Given the description of an element on the screen output the (x, y) to click on. 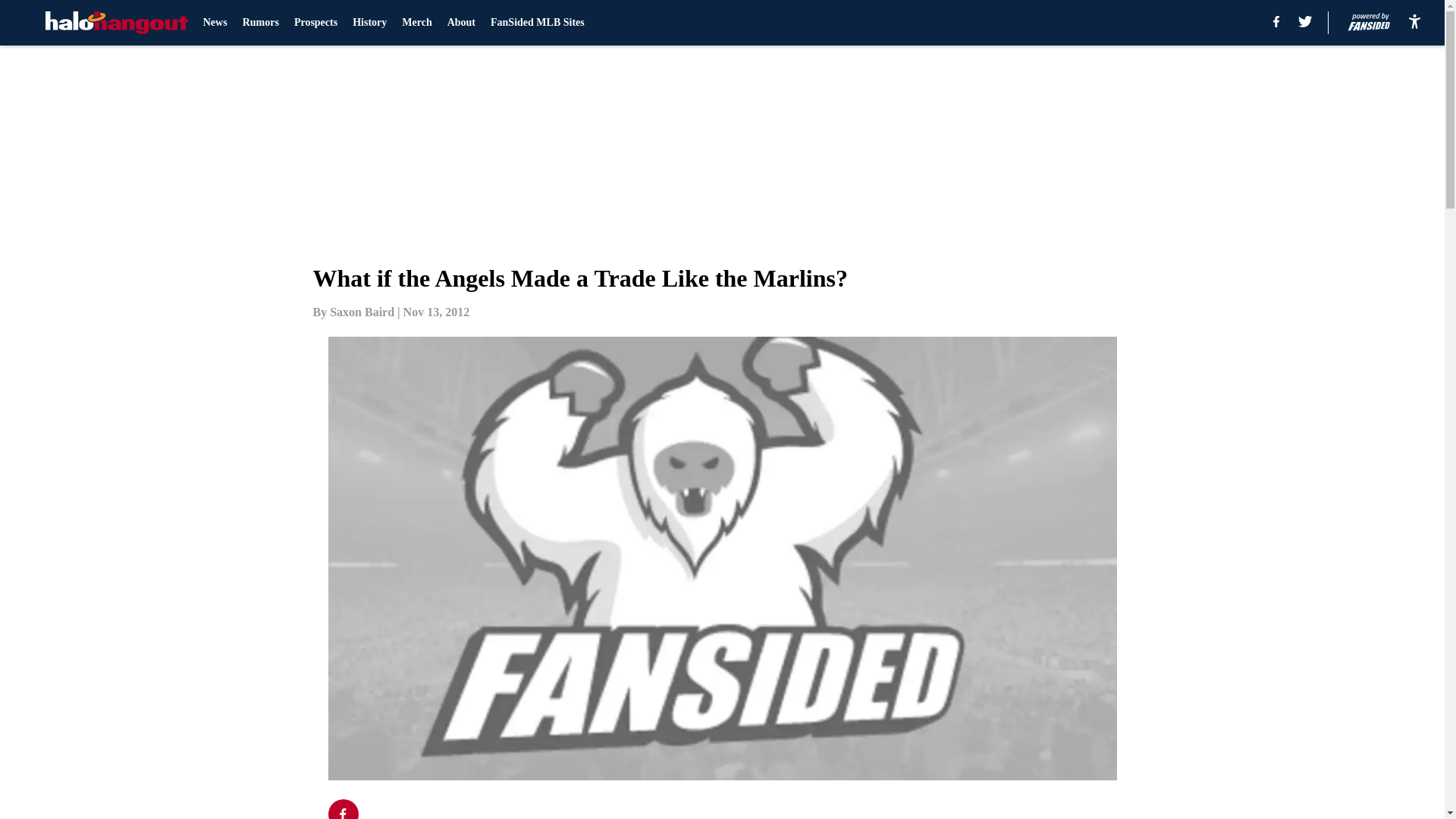
FanSided MLB Sites (537, 22)
History (369, 22)
About (461, 22)
Merch (415, 22)
Prospects (315, 22)
News (215, 22)
Rumors (261, 22)
